Given the description of an element on the screen output the (x, y) to click on. 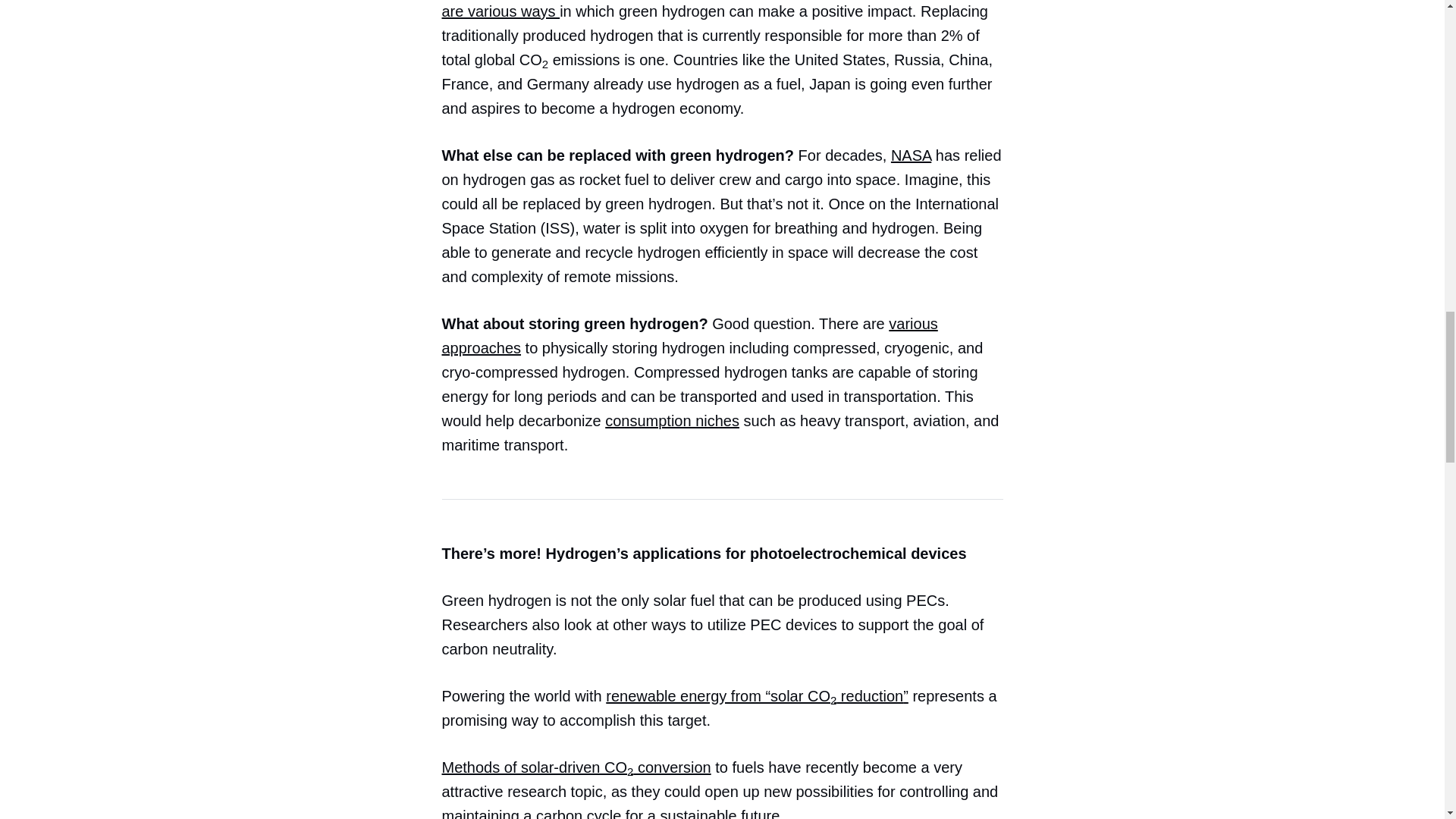
consumption niches (672, 420)
Methods of solar-driven CO2 conversion (575, 767)
NASA (911, 155)
There are various ways (716, 9)
various approaches (689, 335)
